Given the description of an element on the screen output the (x, y) to click on. 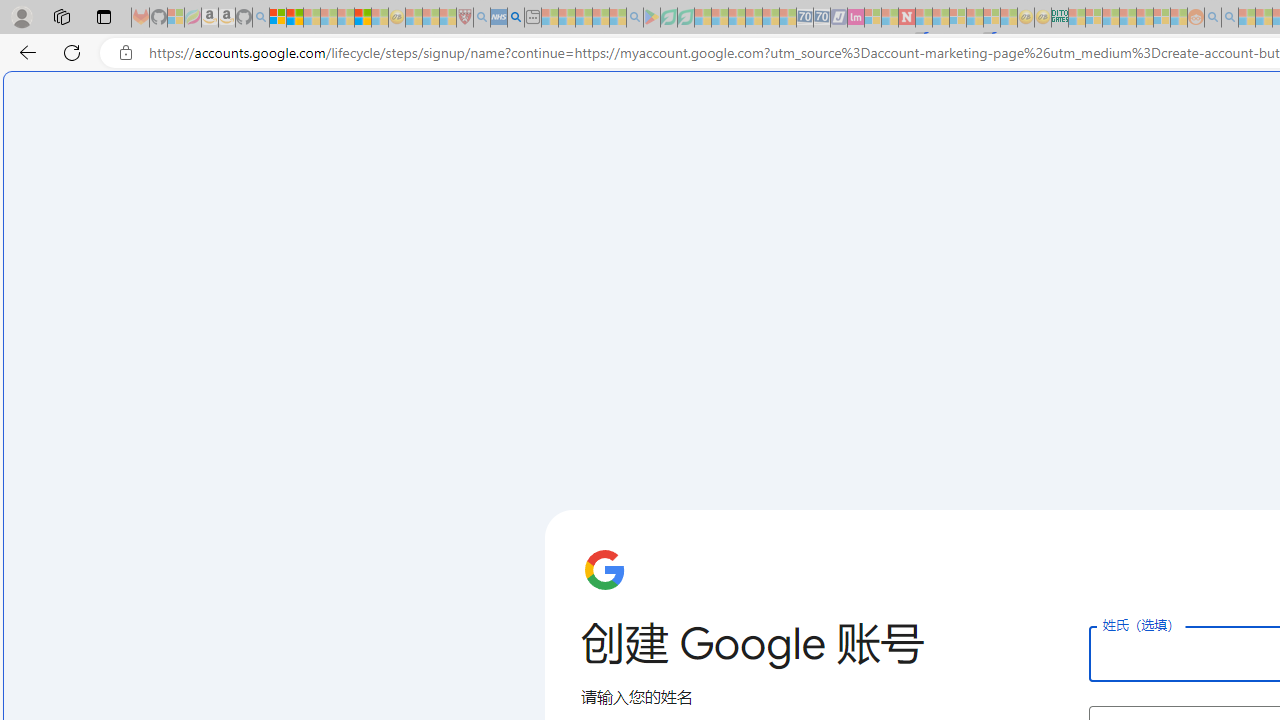
utah sues federal government - Search (515, 17)
